Given the description of an element on the screen output the (x, y) to click on. 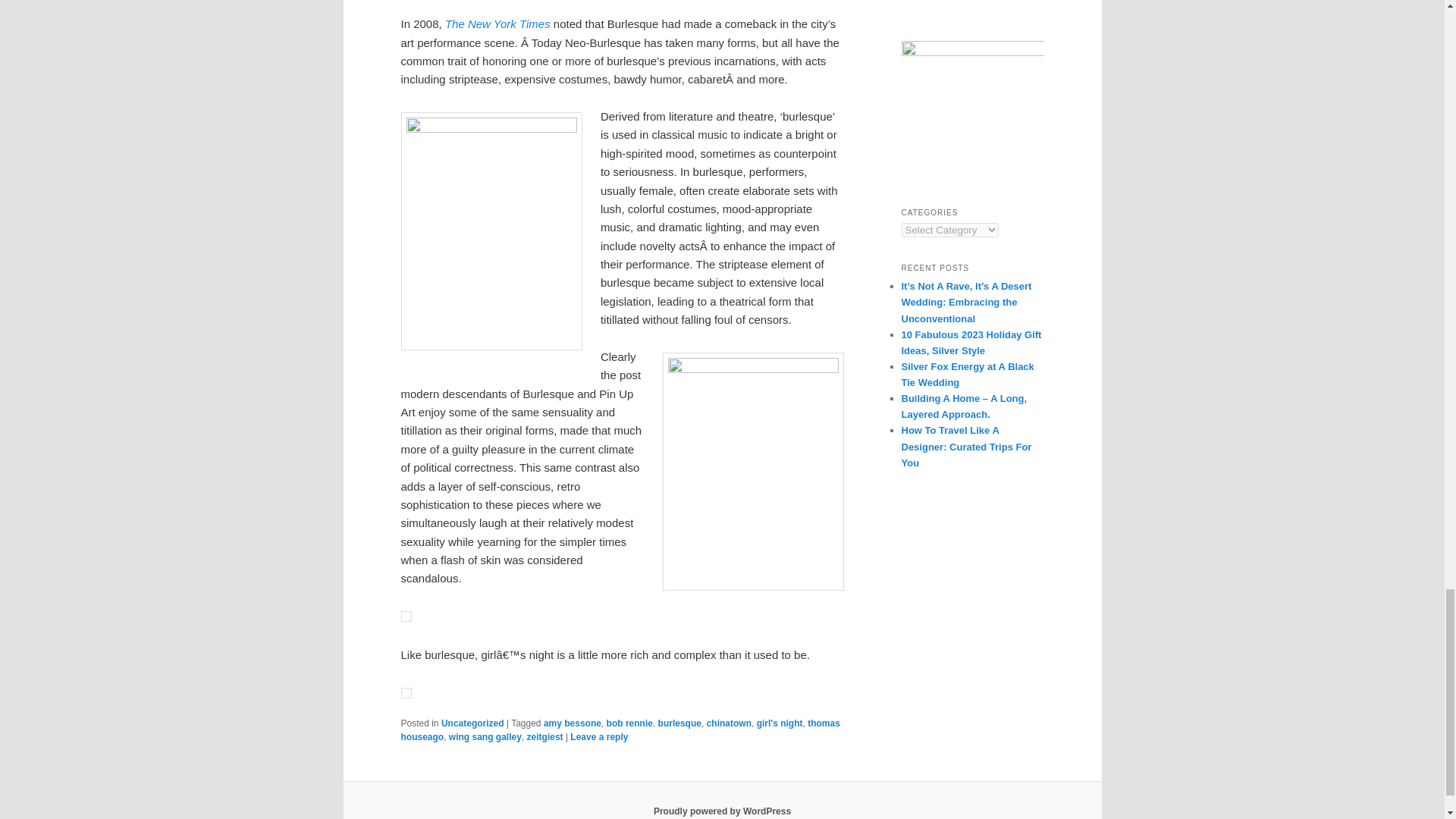
amy bessone (572, 723)
Leave a reply (598, 737)
The New York Times (497, 23)
bob rennie (629, 723)
wing sang galley (484, 737)
chinatown (728, 723)
burlesque (679, 723)
Semantic Personal Publishing Platform (721, 810)
girl's night (780, 723)
thomas houseago (620, 730)
Uncategorized (472, 723)
zeitgiest (545, 737)
